Given the description of an element on the screen output the (x, y) to click on. 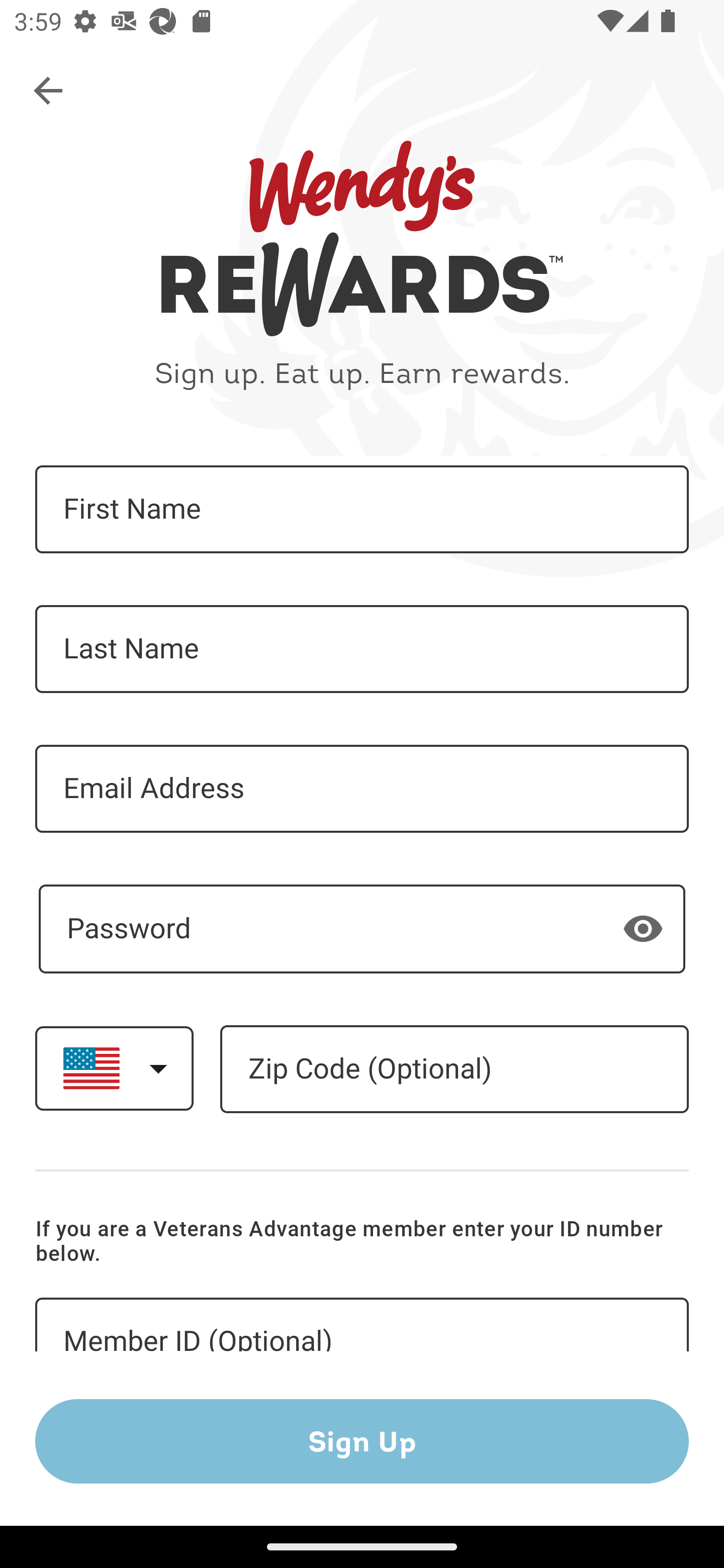
Navigate up (49, 91)
First Name - Required (361, 509)
Last Name - Required (361, 649)
Email Address - Required (361, 788)
- Required (361, 928)
Show password (642, 927)
Zip Code – Optional (454, 1069)
Select a country. United States selected. (114, 1067)
Veterans Advantage ID – Optional (361, 1324)
Sign Up (361, 1440)
